Given the description of an element on the screen output the (x, y) to click on. 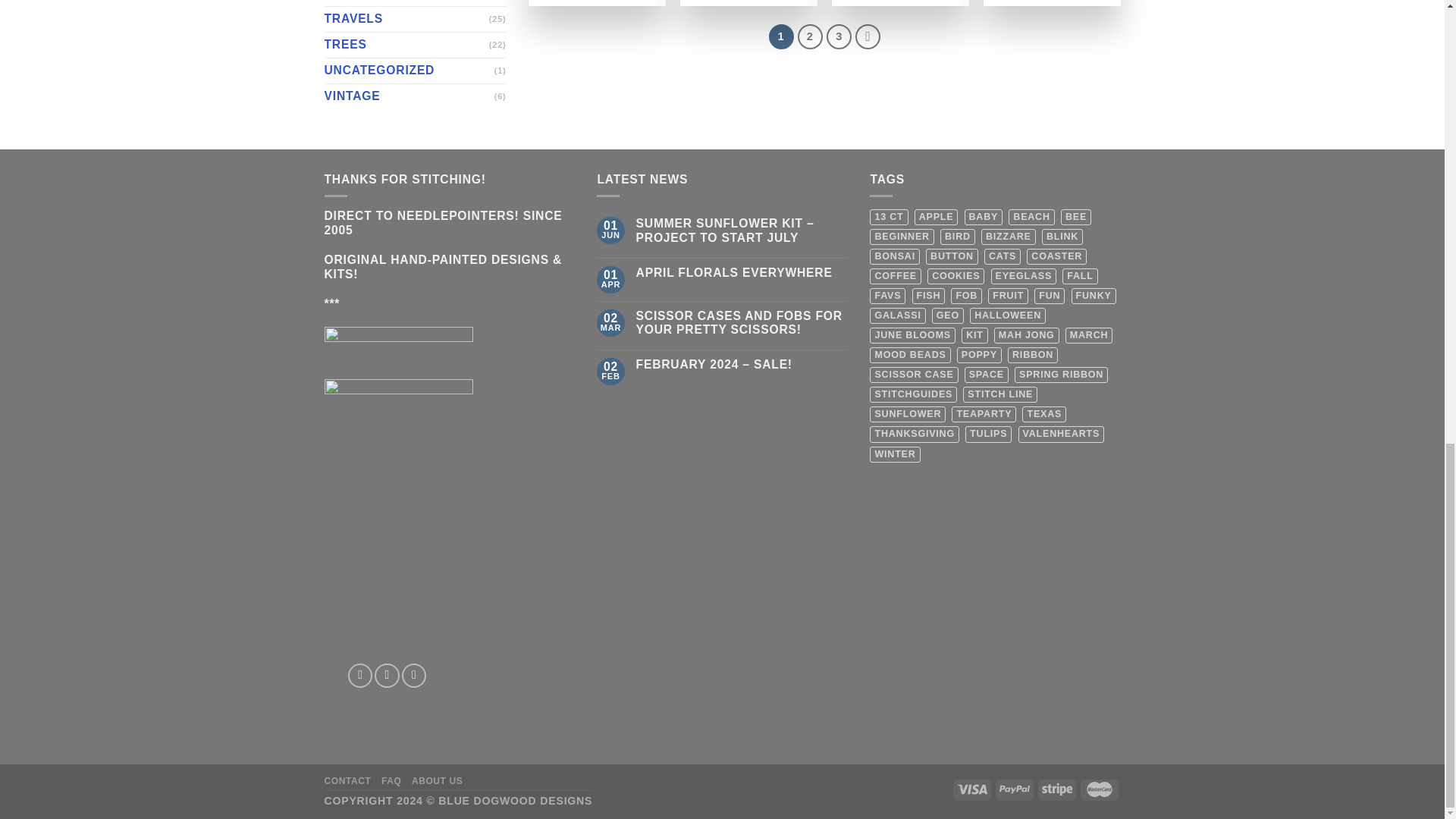
April Florals Everywhere (741, 273)
Follow on Facebook (359, 675)
Follow on Instagram (386, 675)
Scissor Cases and Fobs for your pretty scissors! (741, 323)
Send us an email (413, 675)
